Given the description of an element on the screen output the (x, y) to click on. 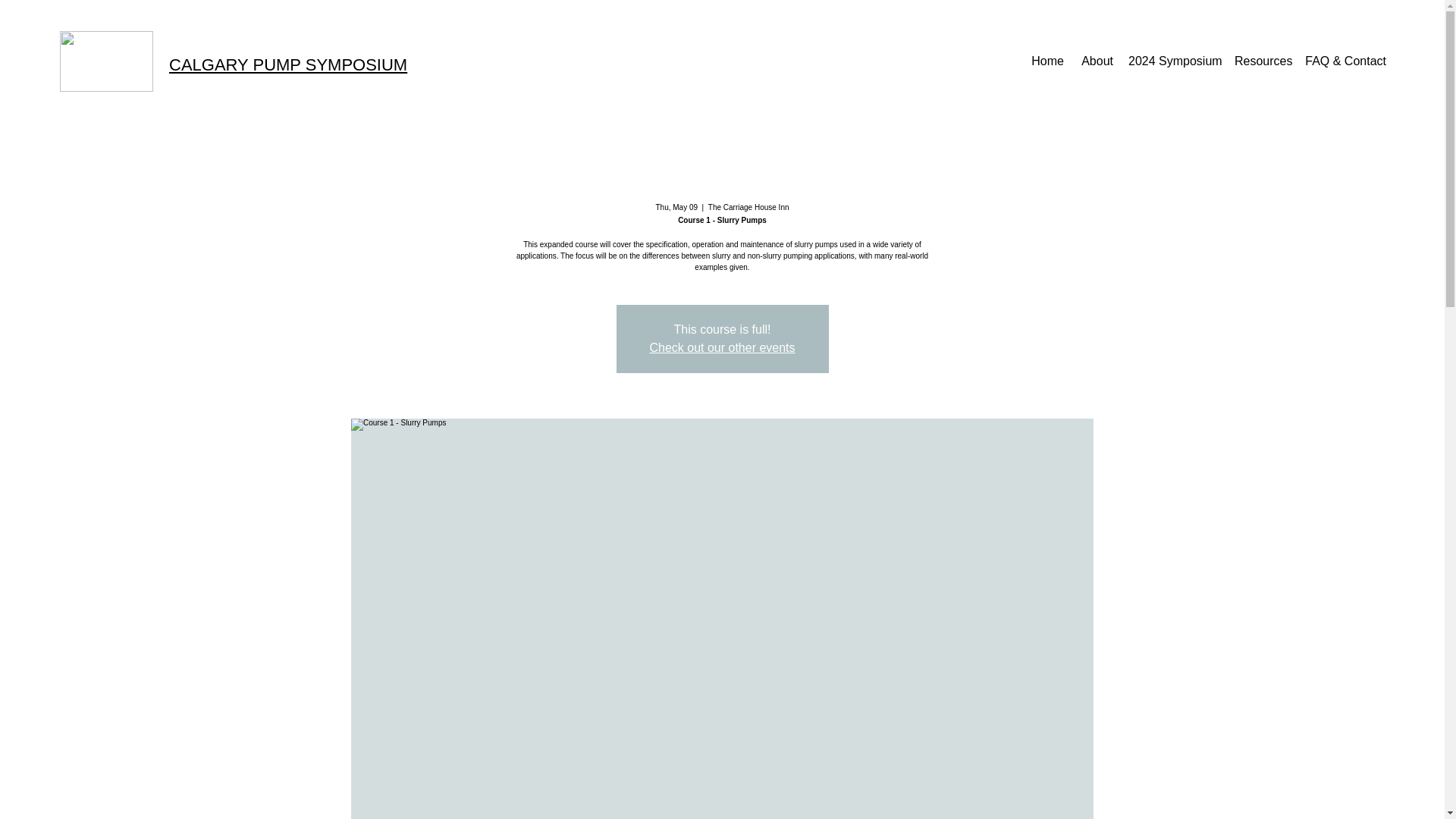
About (1096, 60)
Resources (1262, 60)
Check out our other events (721, 347)
2024 Symposium (1174, 60)
CALGARY PUMP SYMPOSIUM (287, 64)
Home (1046, 60)
